Given the description of an element on the screen output the (x, y) to click on. 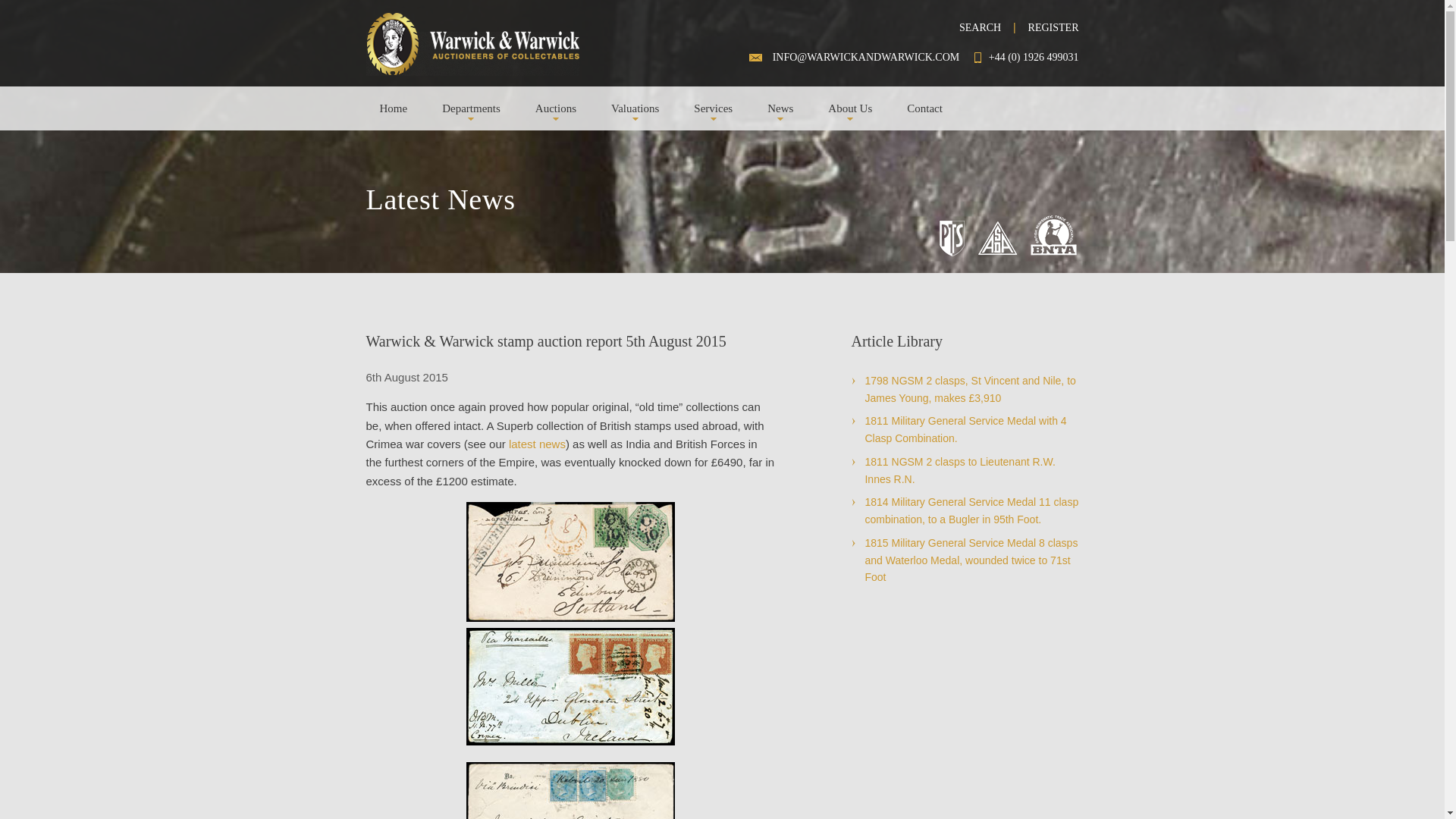
SEARCH (980, 27)
Home (392, 108)
Valuations (635, 108)
REGISTER (1052, 27)
Departments (471, 108)
Services (713, 108)
Auctions (555, 108)
